Given the description of an element on the screen output the (x, y) to click on. 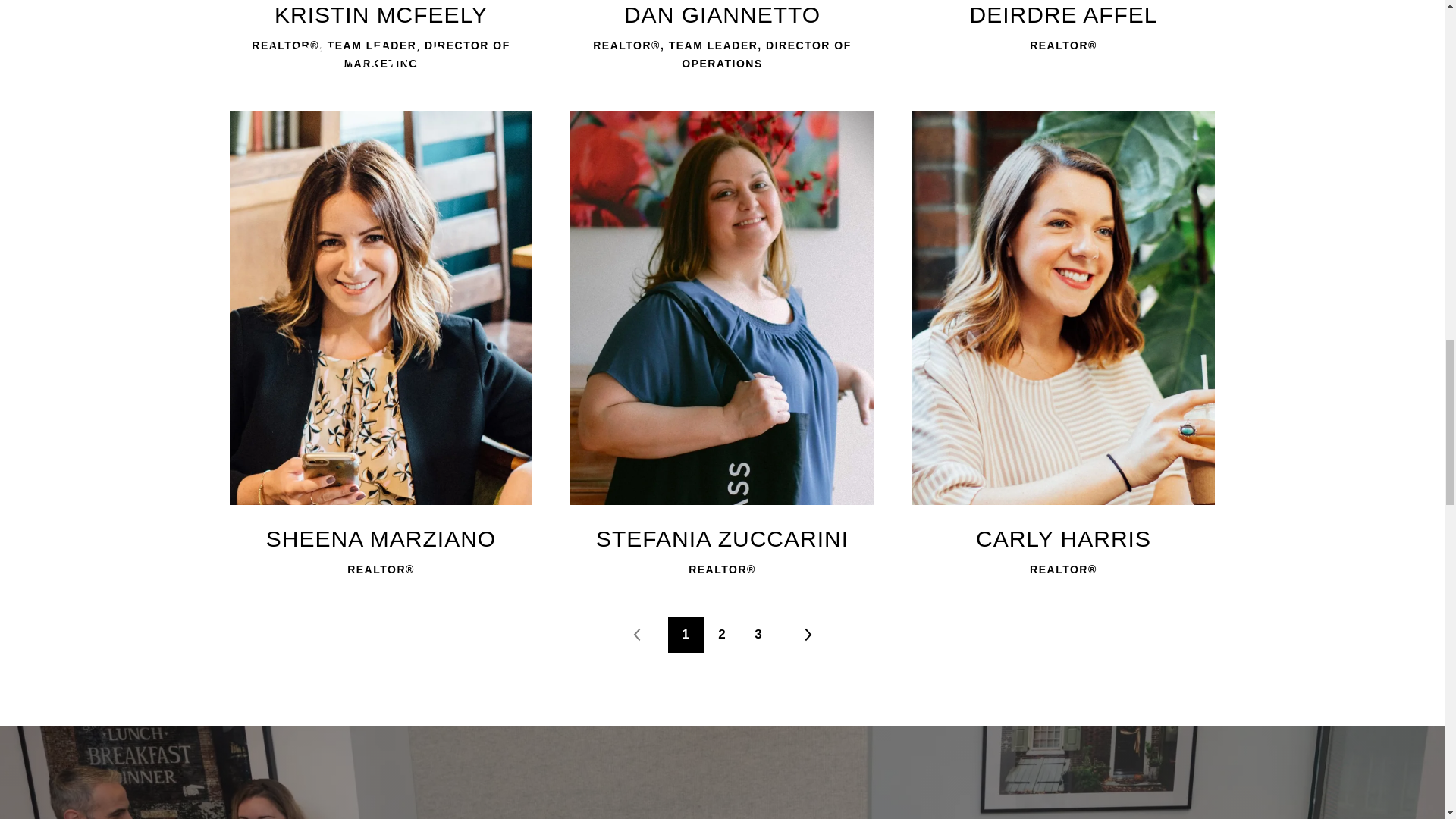
3 (757, 634)
Next page (807, 634)
1 (684, 634)
2 (721, 634)
